Given the description of an element on the screen output the (x, y) to click on. 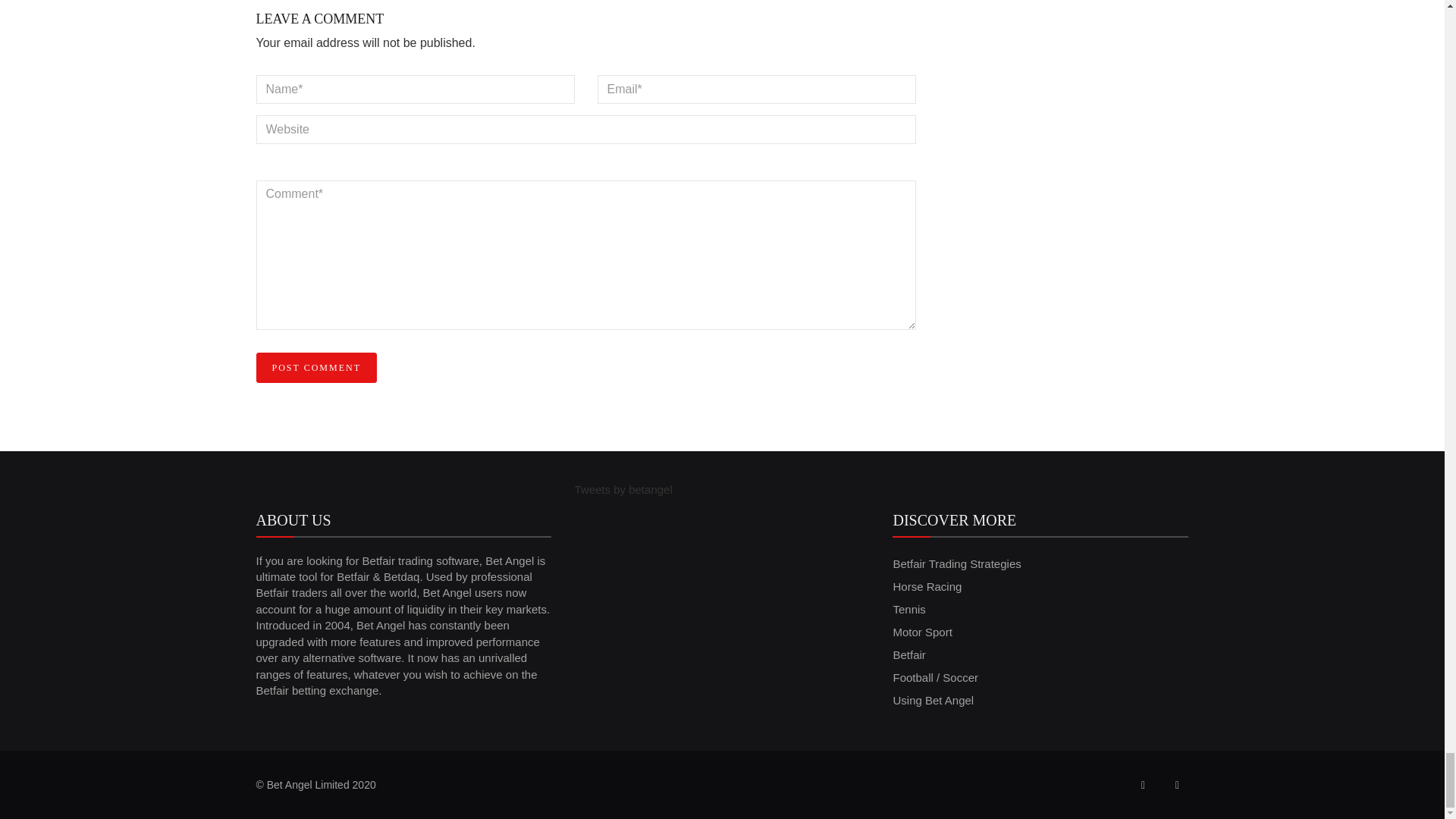
Post Comment (316, 367)
Post Comment (316, 367)
